Given the description of an element on the screen output the (x, y) to click on. 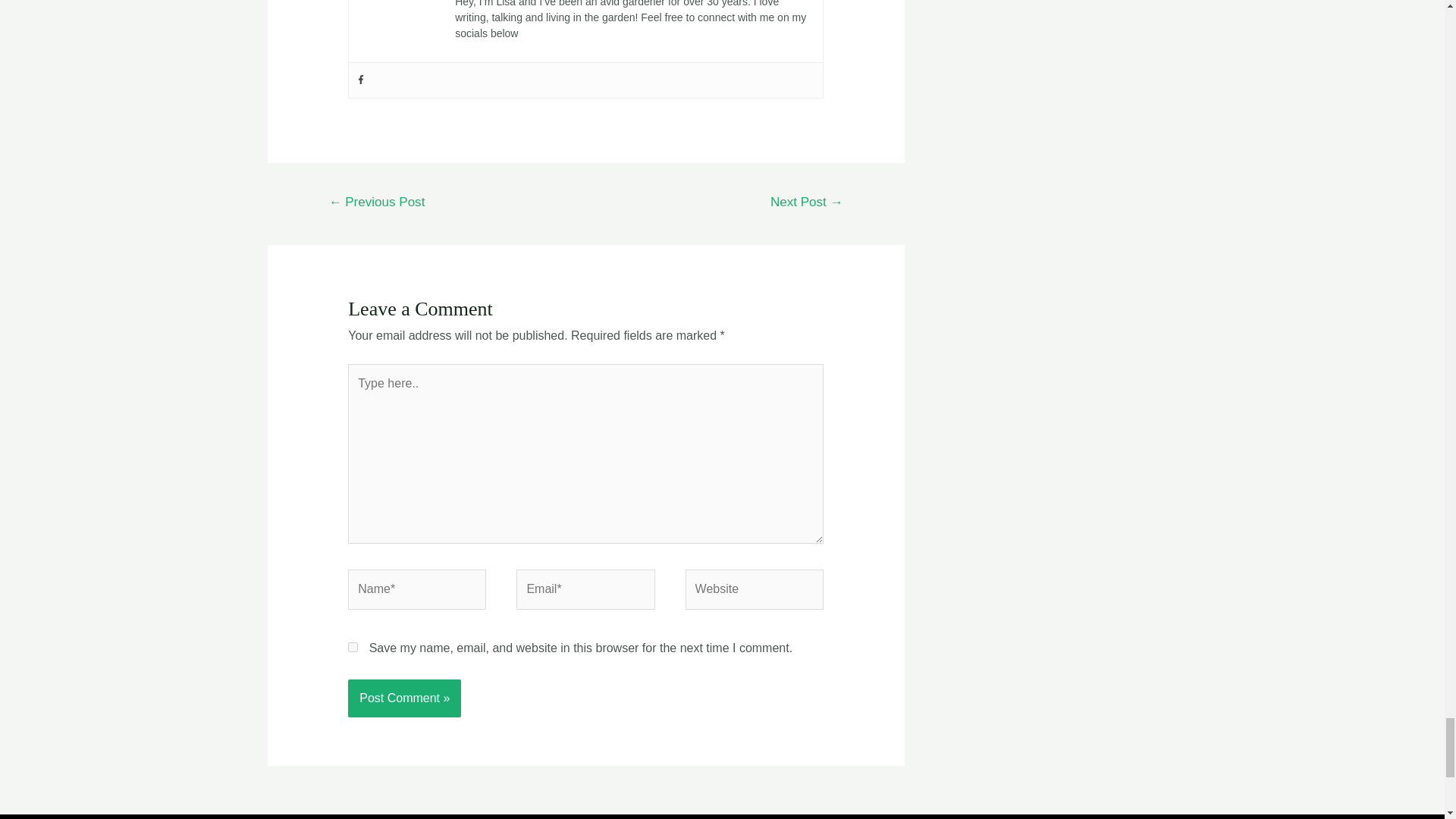
yes (352, 646)
